Given the description of an element on the screen output the (x, y) to click on. 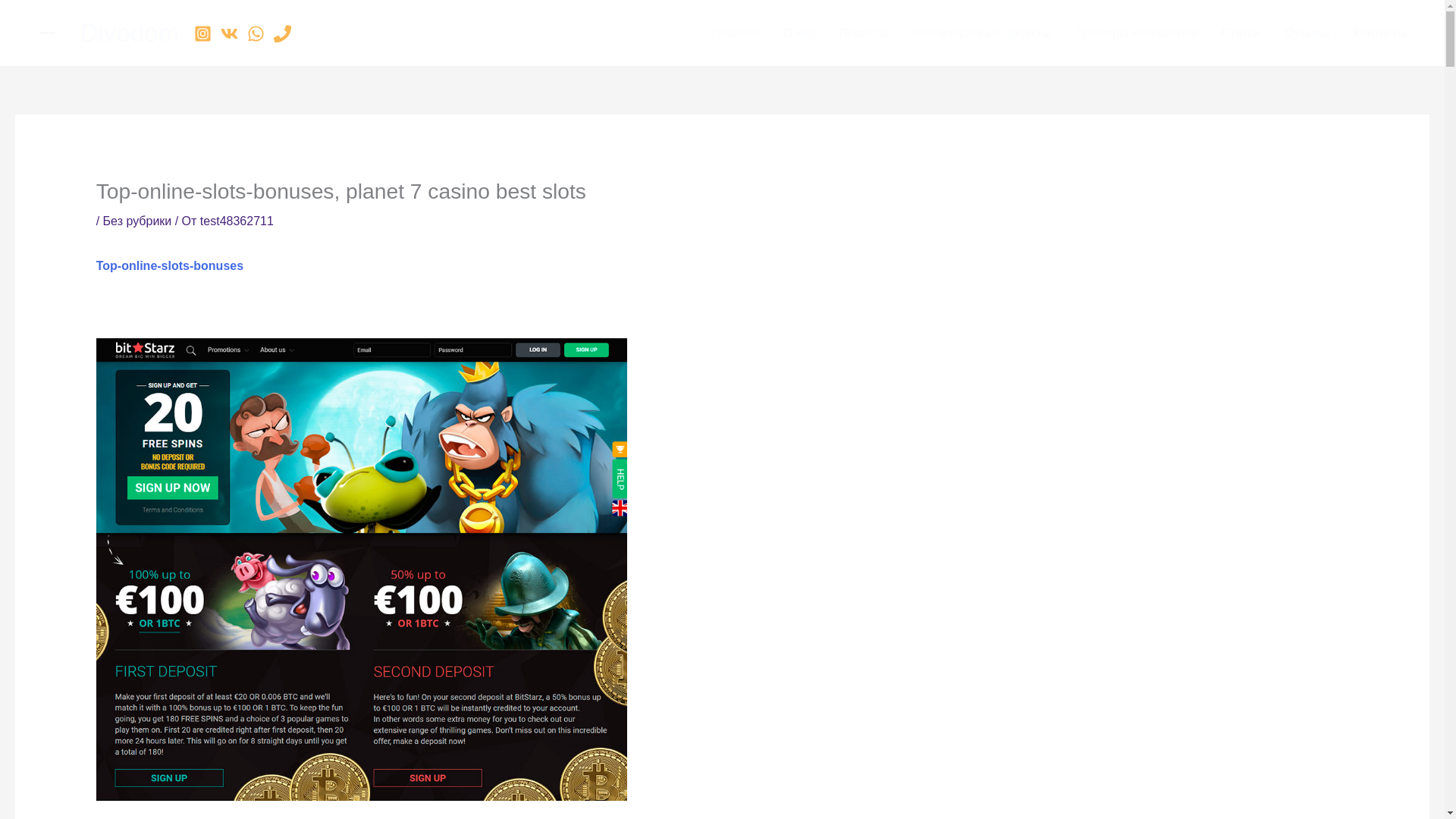
Divodom (129, 32)
test48362711 (236, 220)
Top-online-slots-bonuses (169, 265)
